Given the description of an element on the screen output the (x, y) to click on. 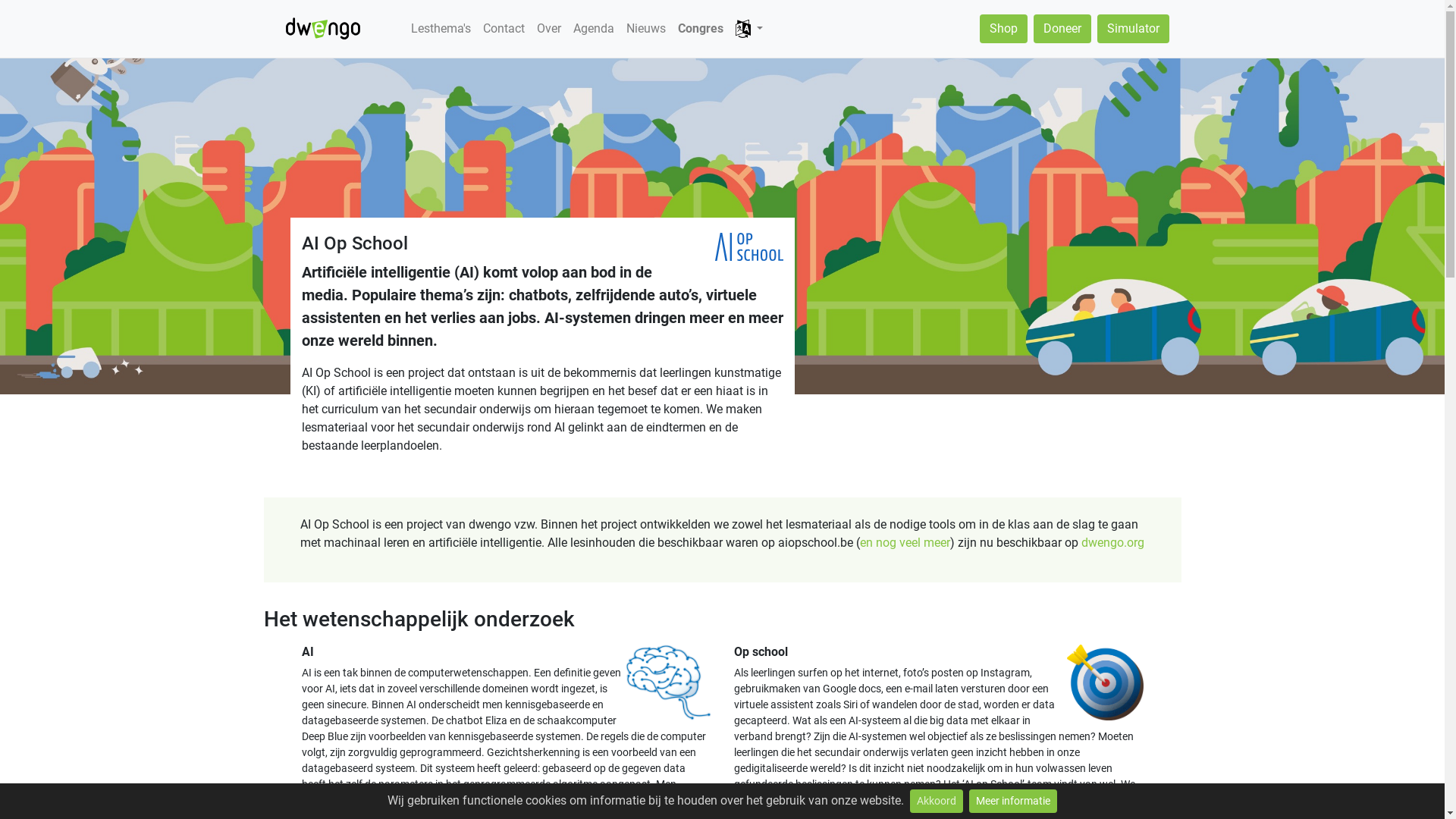
en nog veel meer Element type: text (904, 542)
Nieuws Element type: text (645, 28)
Congres Element type: text (700, 28)
Shop Element type: text (1003, 28)
Doneer Element type: text (1061, 28)
Lesthema's Element type: text (440, 28)
Meer informatie Element type: text (1013, 800)
Contact Element type: text (503, 28)
dwengo.org Element type: text (1112, 542)
Akkoord Element type: text (936, 800)
Over Element type: text (548, 28)
Agenda Element type: text (593, 28)
Simulator Element type: text (1132, 28)
